Given the description of an element on the screen output the (x, y) to click on. 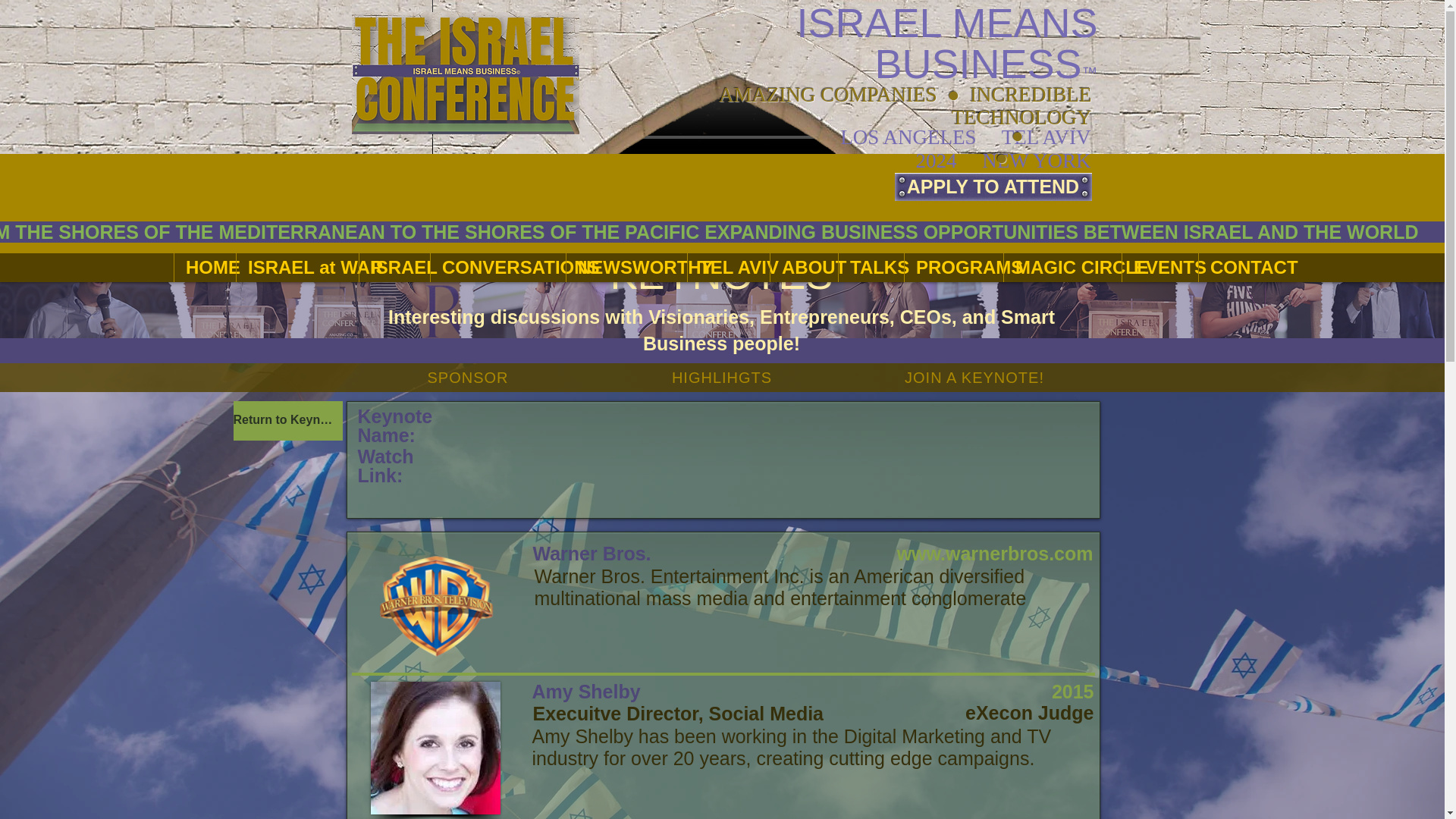
APPLY TO ATTEND (993, 186)
www.warnerbros.com (994, 553)
CONTACT (1241, 267)
HIGHLIHGTS (722, 377)
SPONSOR (468, 377)
ABOUT (804, 267)
TALKS (871, 267)
Return to Keynotes (287, 420)
ISRAEL (393, 267)
JOIN A KEYNOTE! (975, 377)
TEL AVIV (728, 267)
Picture-WarnerBrothersTelevision-AmyShelby.jpg (434, 747)
PROGRAMS (953, 267)
ISRAEL at WAR (296, 267)
MAGIC CIRCLE (1062, 267)
